Given the description of an element on the screen output the (x, y) to click on. 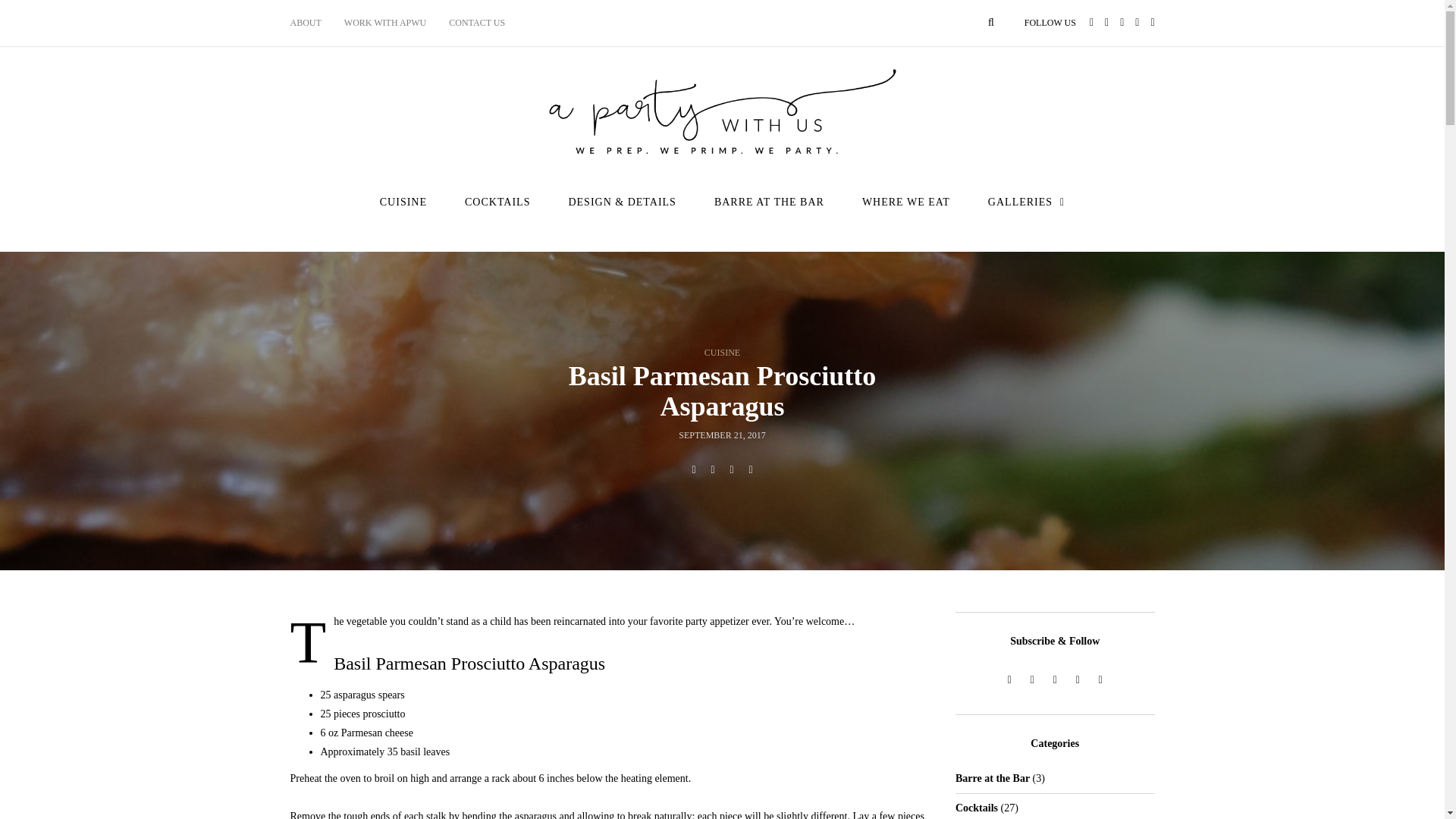
WORK WITH APWU (385, 22)
CUISINE (402, 202)
ABOUT (310, 22)
Pin this (750, 469)
COCKTAILS (497, 202)
Share this (693, 469)
WHERE WE EAT (906, 202)
CUISINE (721, 352)
Share with Google Plus (731, 469)
Tweet this (712, 469)
BARRE AT THE BAR (769, 202)
CONTACT US (477, 22)
GALLERIES (1026, 202)
